Given the description of an element on the screen output the (x, y) to click on. 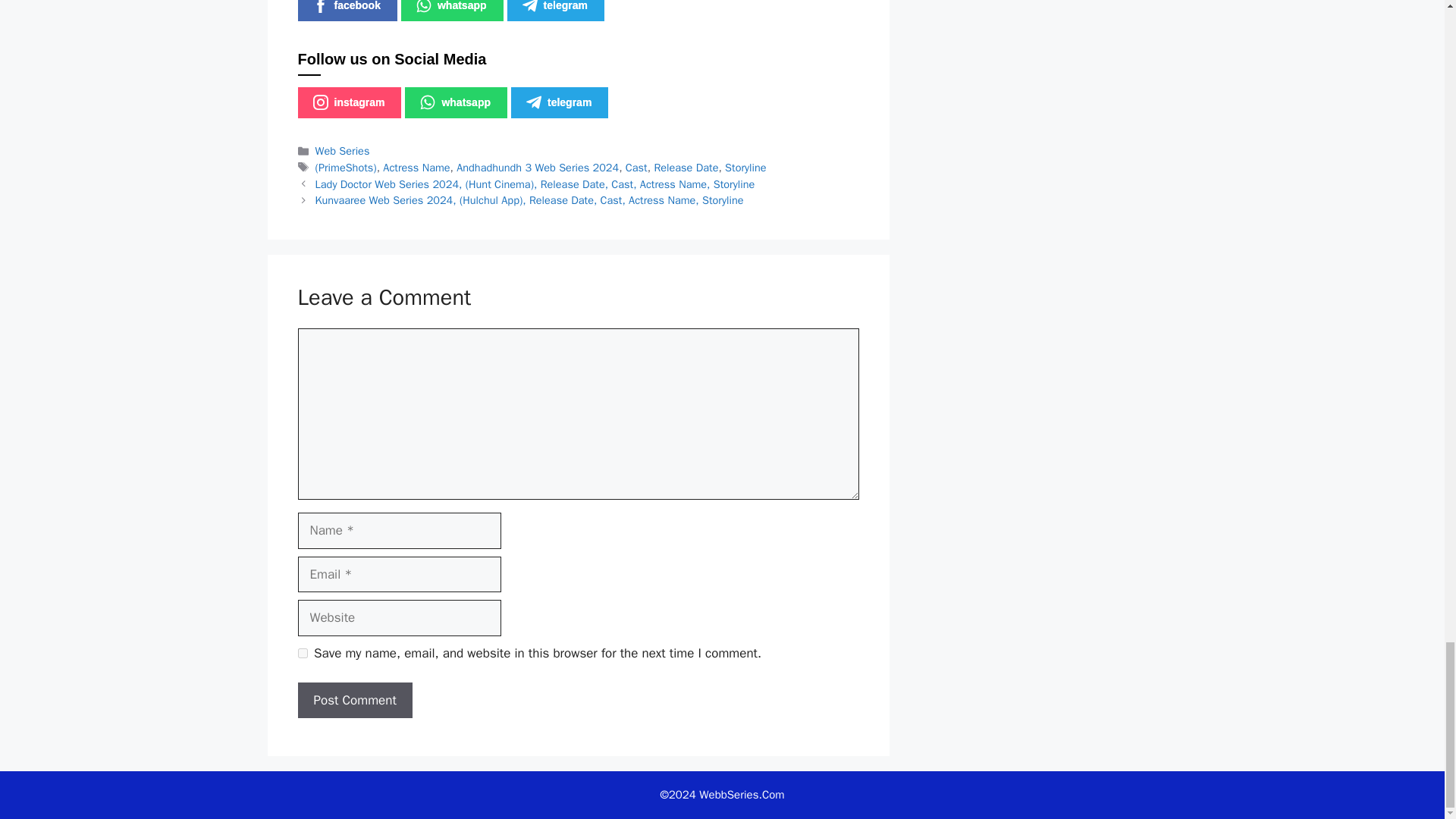
Post Comment (354, 700)
whatsapp (455, 101)
facebook (346, 10)
Web Series (342, 151)
telegram (555, 10)
instagram (349, 101)
whatsapp (452, 10)
yes (302, 653)
telegram (559, 101)
